Given the description of an element on the screen output the (x, y) to click on. 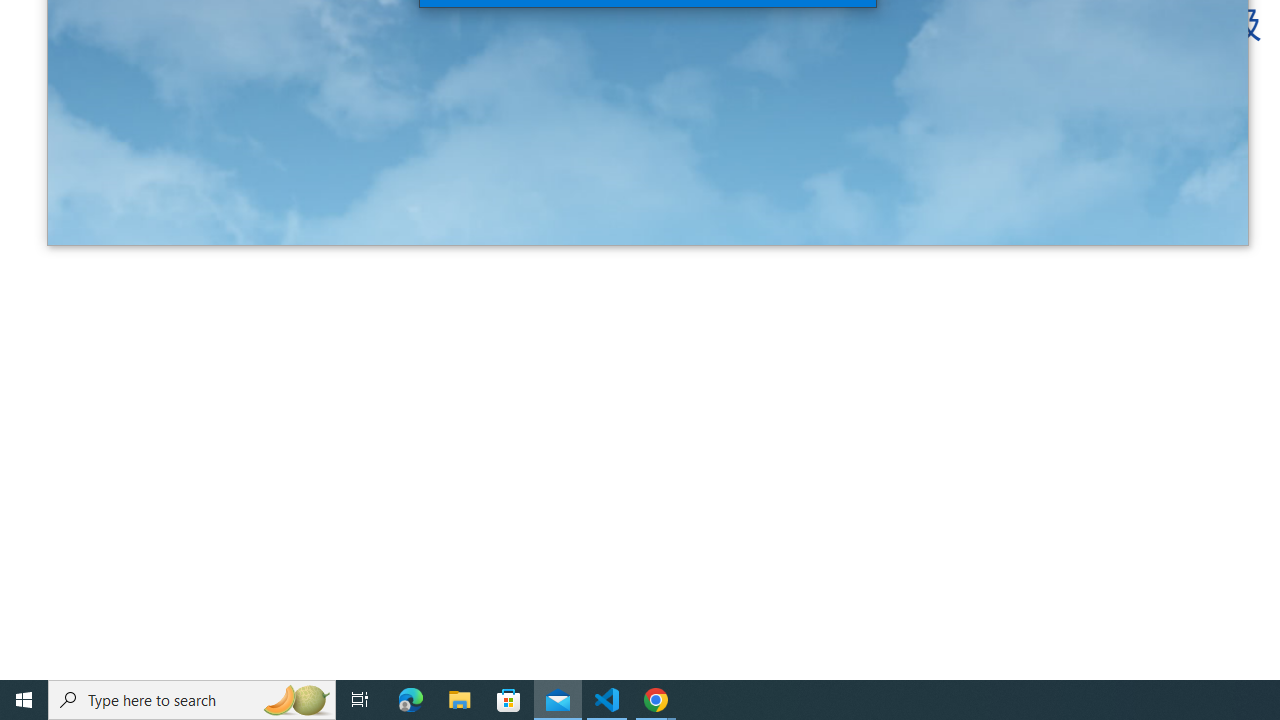
Task View (359, 699)
File Explorer (460, 699)
Microsoft Store (509, 699)
Visual Studio Code - 1 running window (607, 699)
Search highlights icon opens search home window (295, 699)
Start (24, 699)
Google Chrome - 2 running windows (656, 699)
Type here to search (191, 699)
Microsoft Edge (411, 699)
